Given the description of an element on the screen output the (x, y) to click on. 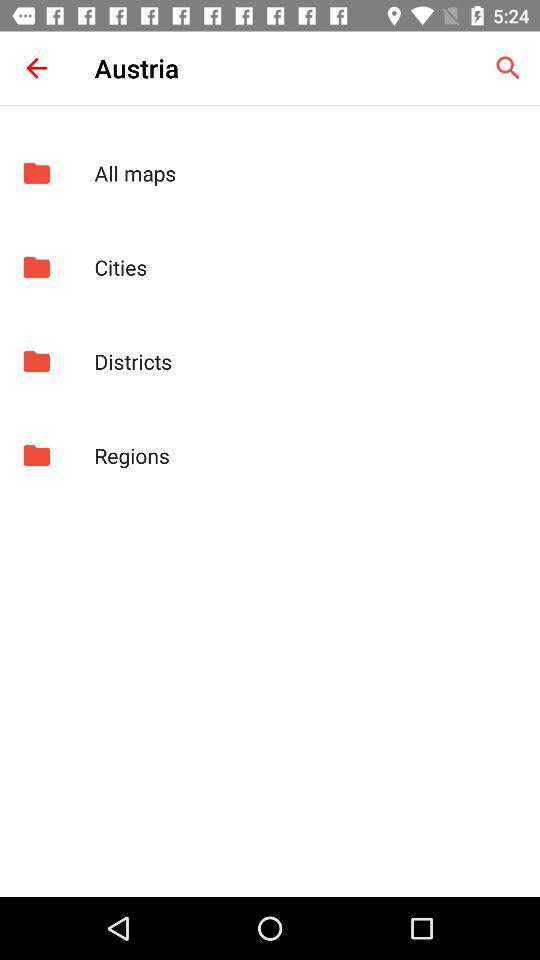
launch icon to the left of the districts app (36, 361)
